Given the description of an element on the screen output the (x, y) to click on. 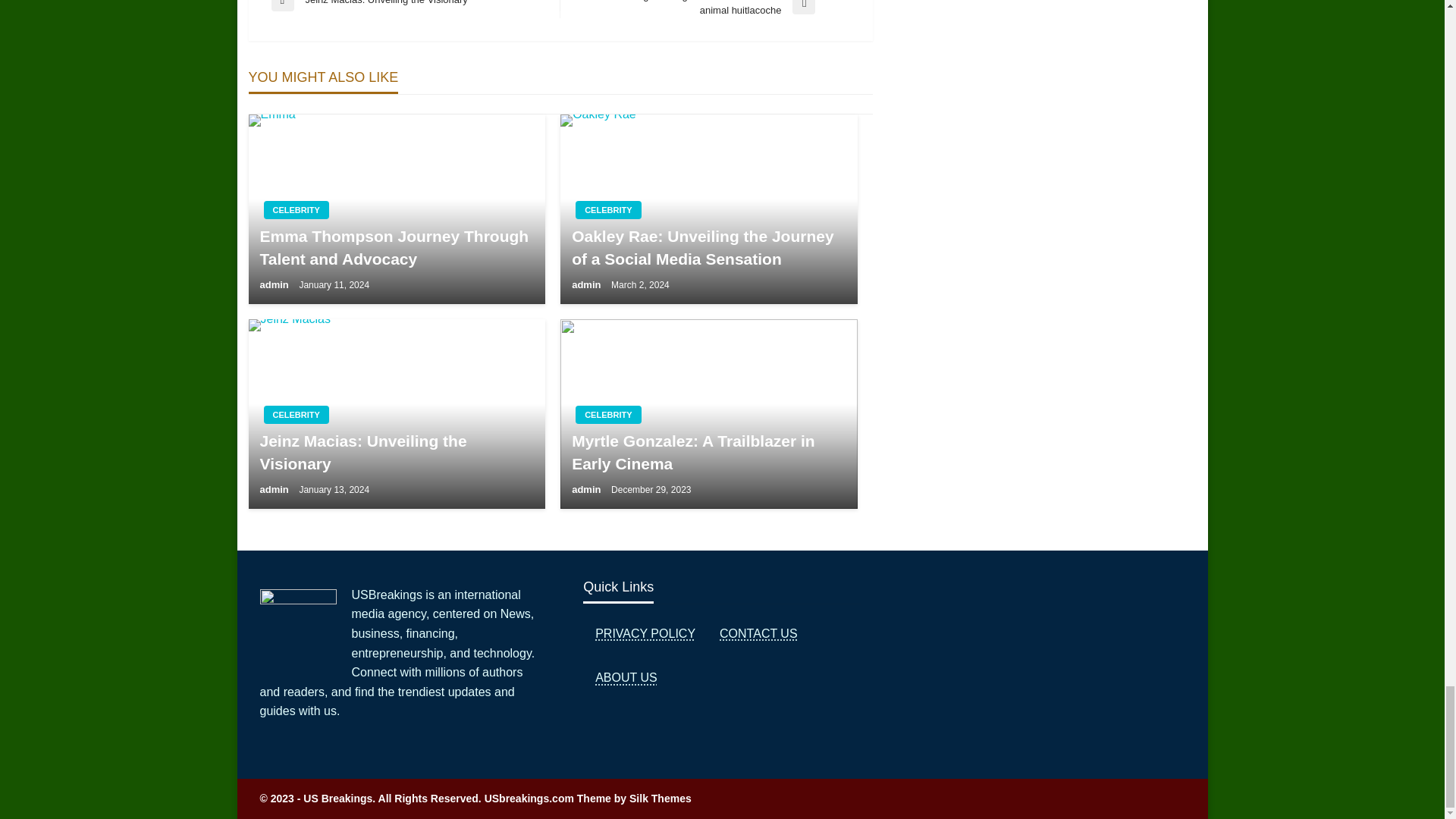
CELEBRITY (415, 5)
admin (296, 209)
Emma Thompson Journey Through Talent and Advocacy (275, 284)
